Given the description of an element on the screen output the (x, y) to click on. 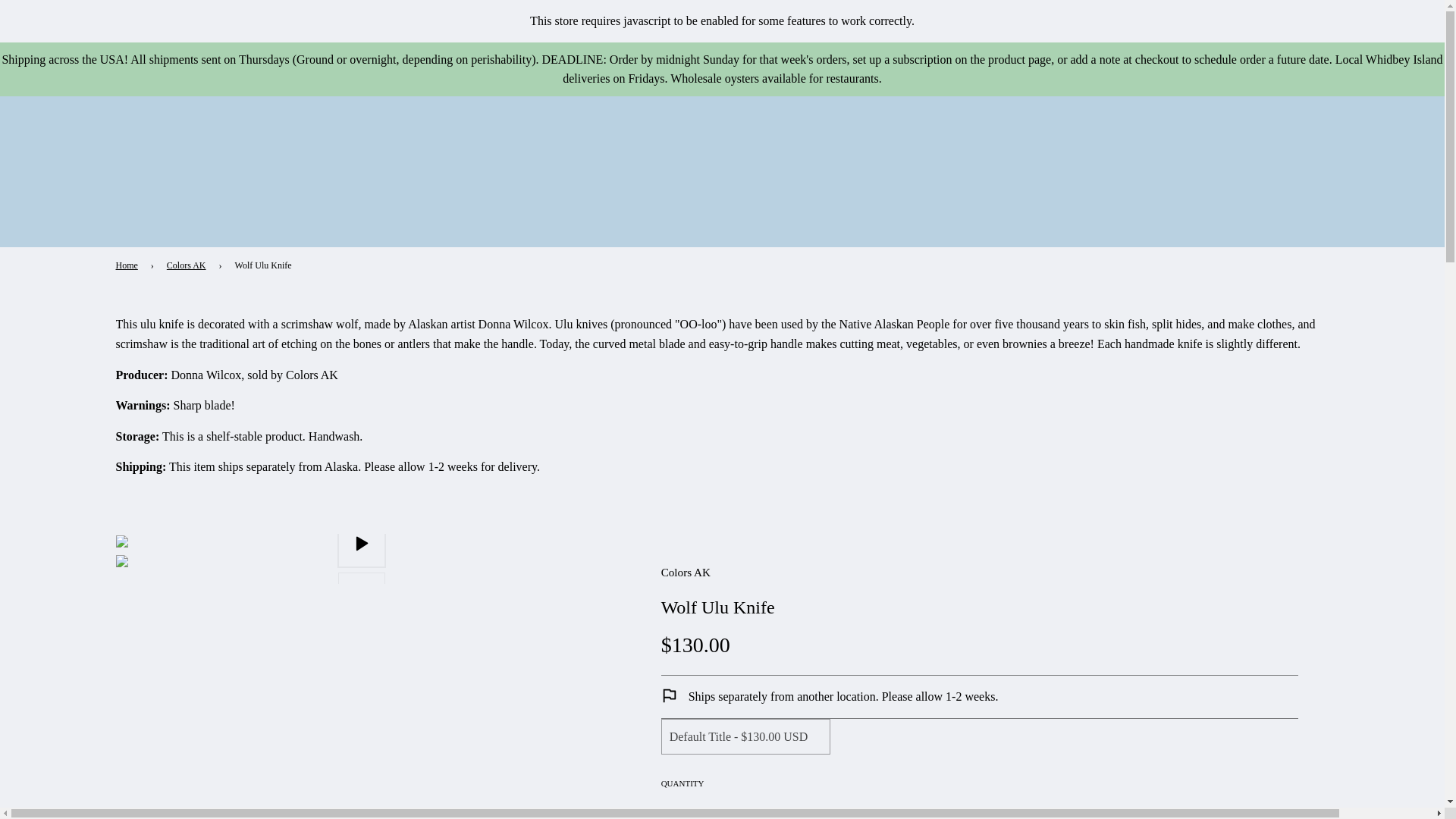
Colors AK (685, 571)
Back to the frontpage (128, 265)
